Given the description of an element on the screen output the (x, y) to click on. 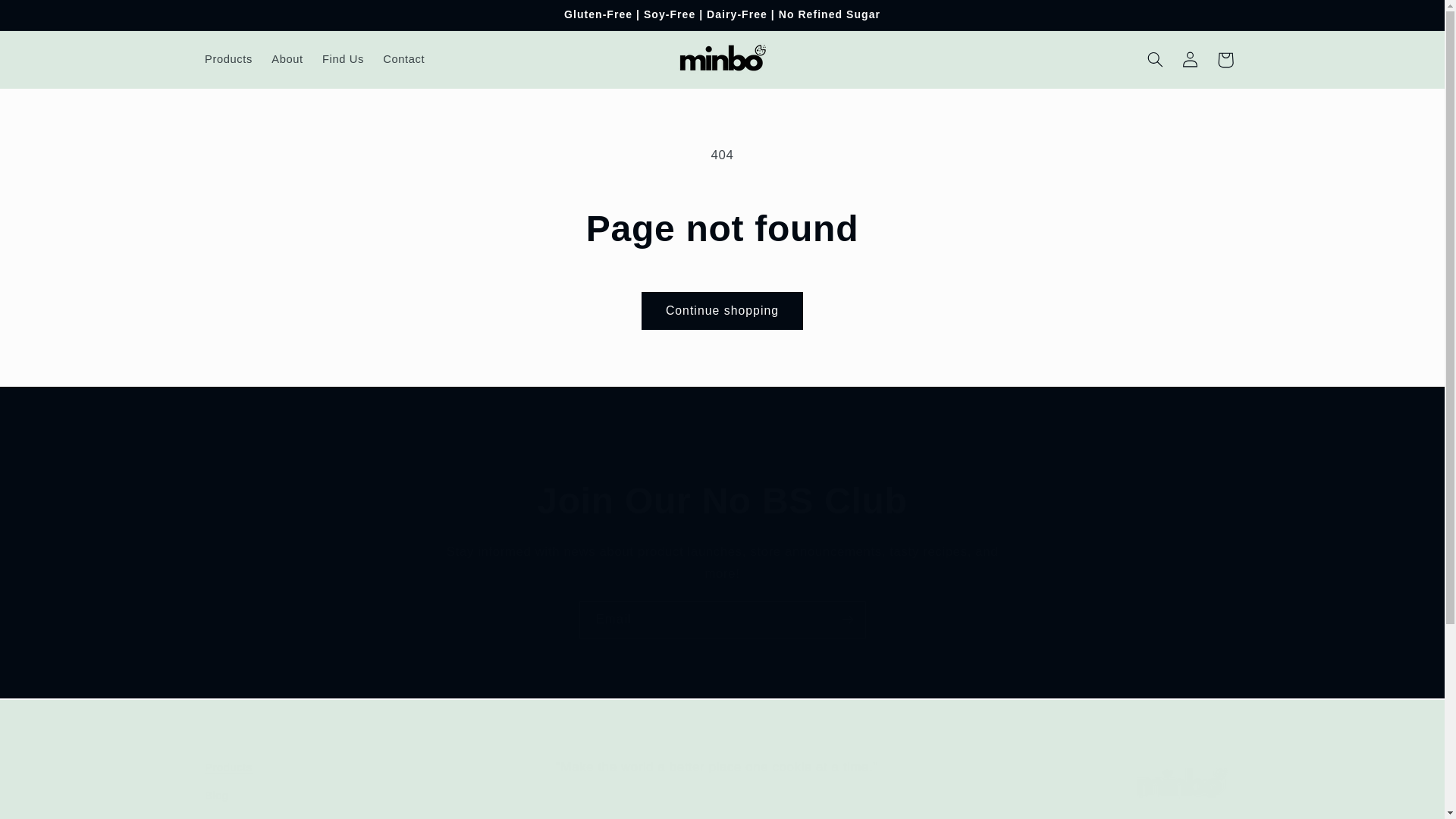
Log in (1190, 59)
Blog (216, 795)
Cart (1225, 59)
Skip to content (371, 787)
Join Our No BS Club (48, 18)
Contact (722, 501)
"Make the world a better place one cookie at a time." (403, 59)
Continue shopping (722, 787)
